Given the description of an element on the screen output the (x, y) to click on. 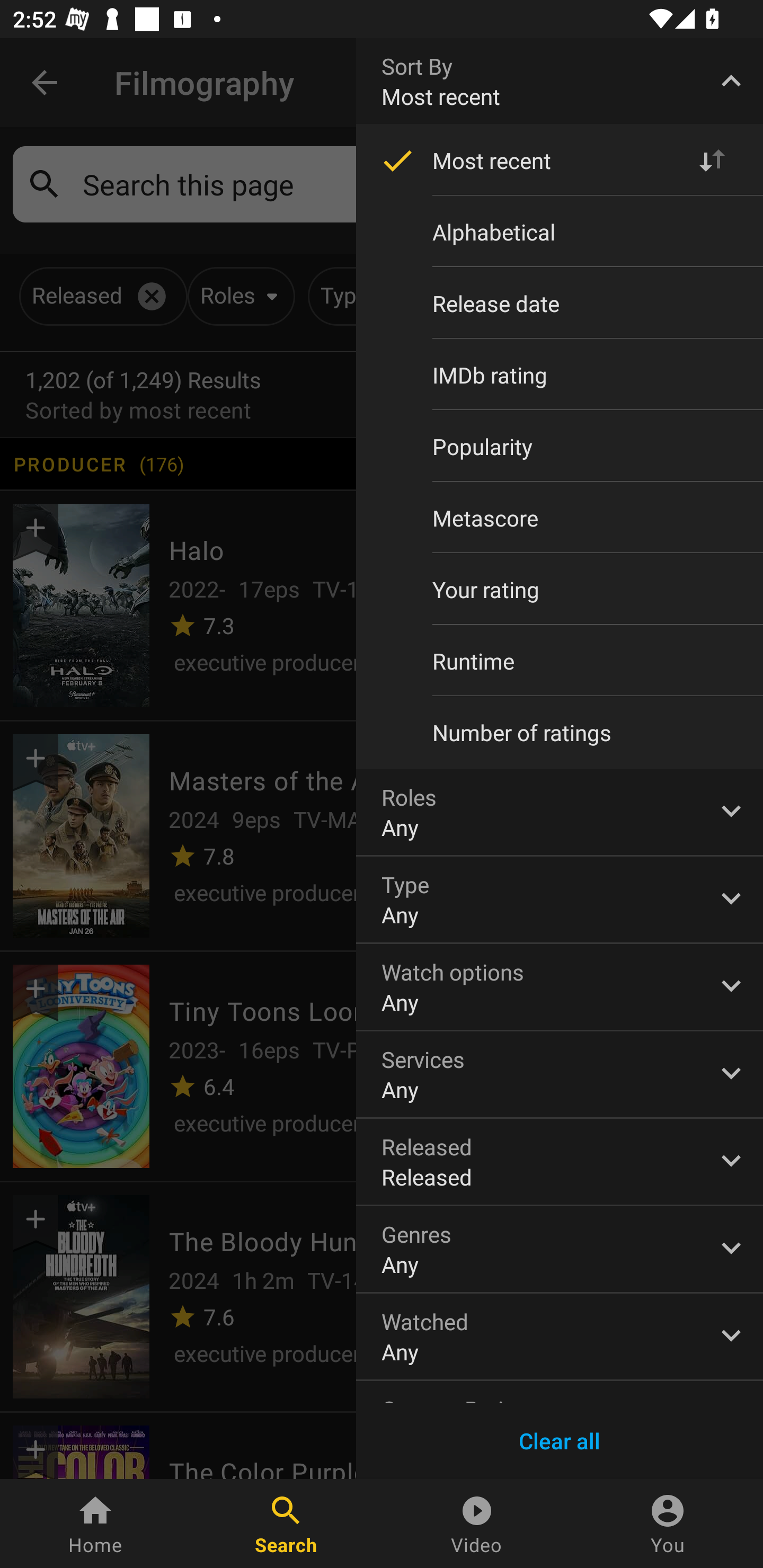
Sort By Most recent (559, 80)
Most recent (559, 160)
Alphabetical (559, 231)
Release date (559, 303)
IMDb rating (559, 374)
Popularity (559, 445)
Metascore (559, 517)
Your rating (559, 589)
Runtime (559, 660)
Number of ratings (559, 732)
Roles Any (559, 811)
Type Any (559, 899)
Watch options Any (559, 986)
Services Any (559, 1073)
Released (559, 1161)
Genres Any (559, 1248)
Watched Any (559, 1336)
Clear all (559, 1440)
Home (95, 1523)
Video (476, 1523)
You (667, 1523)
